Given the description of an element on the screen output the (x, y) to click on. 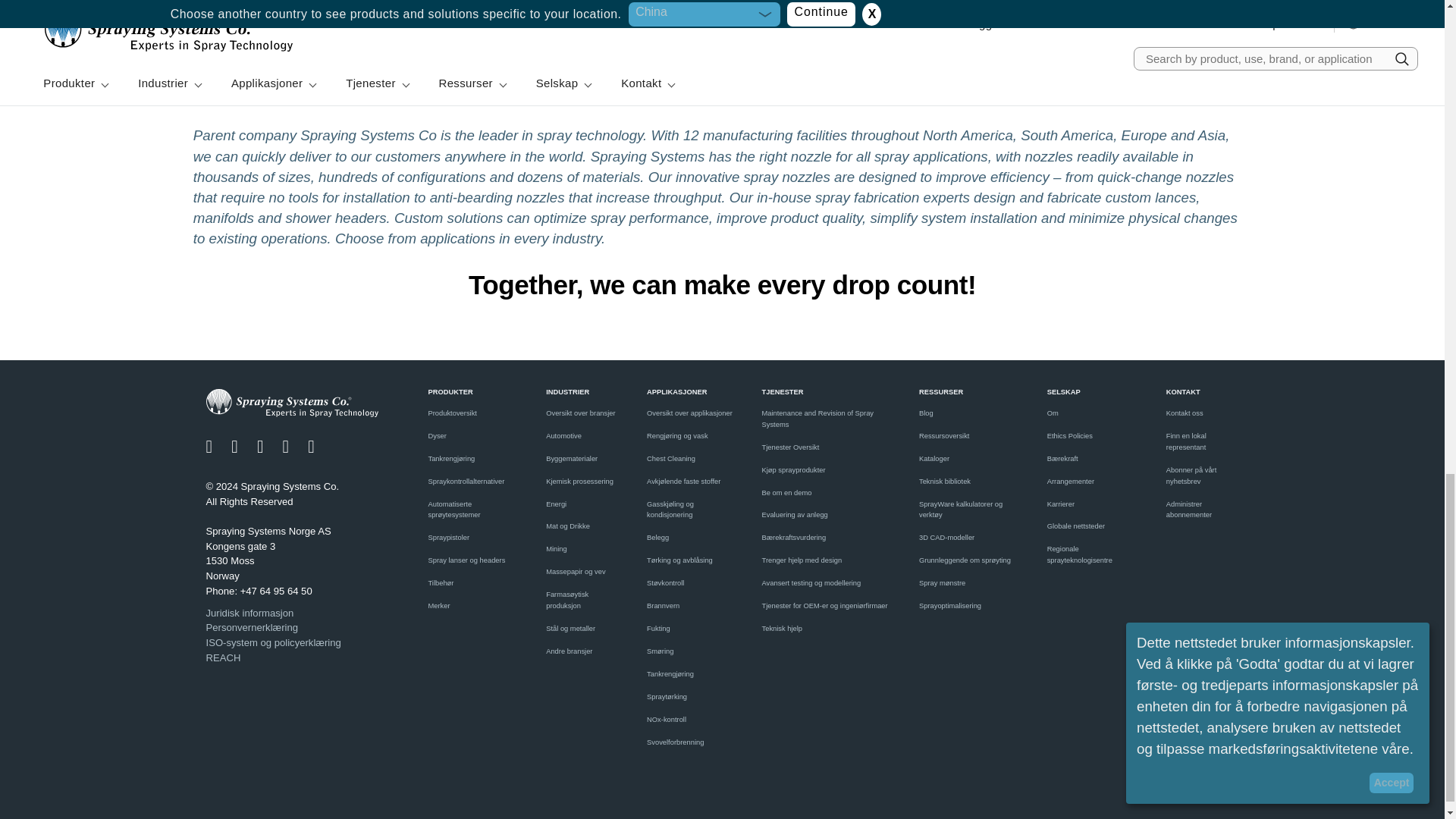
Juridisk informasjon (292, 613)
REACH (292, 657)
